Given the description of an element on the screen output the (x, y) to click on. 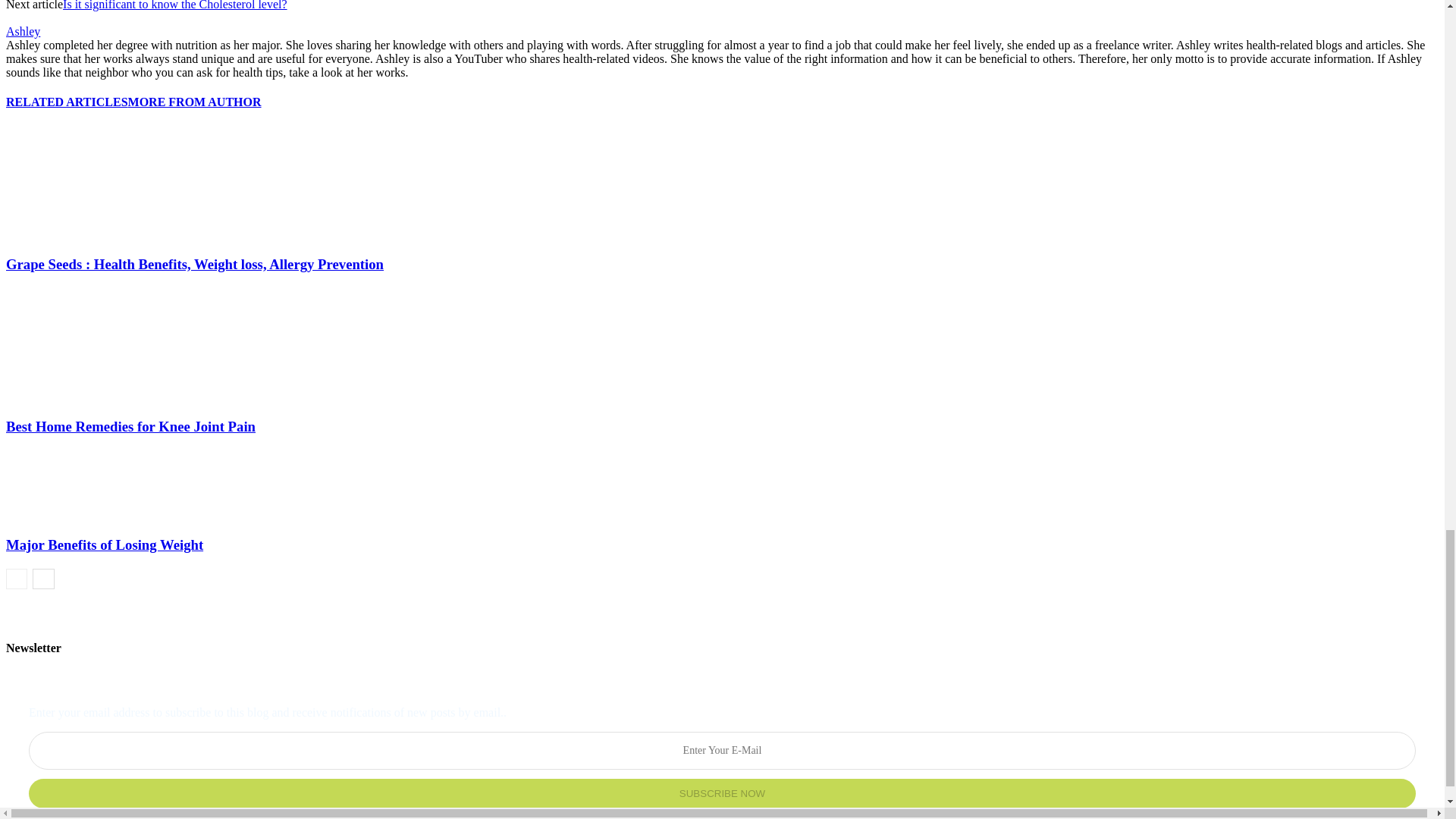
Is it significant to know the Cholesterol level? (174, 5)
